Given the description of an element on the screen output the (x, y) to click on. 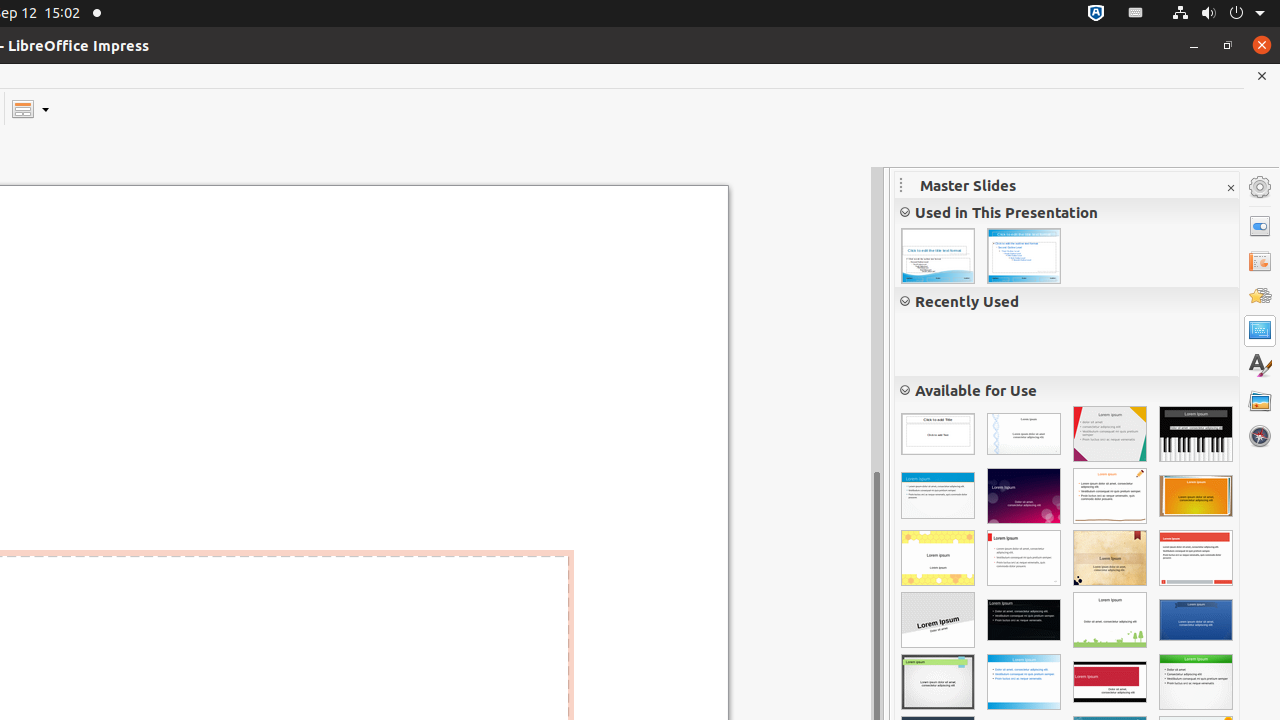
Inspiration Element type: list-item (938, 682)
Styles Element type: radio-button (1260, 366)
Master Slides Element type: radio-button (1260, 331)
Progress Element type: list-item (938, 620)
Sunset Element type: list-item (1196, 496)
